Given the description of an element on the screen output the (x, y) to click on. 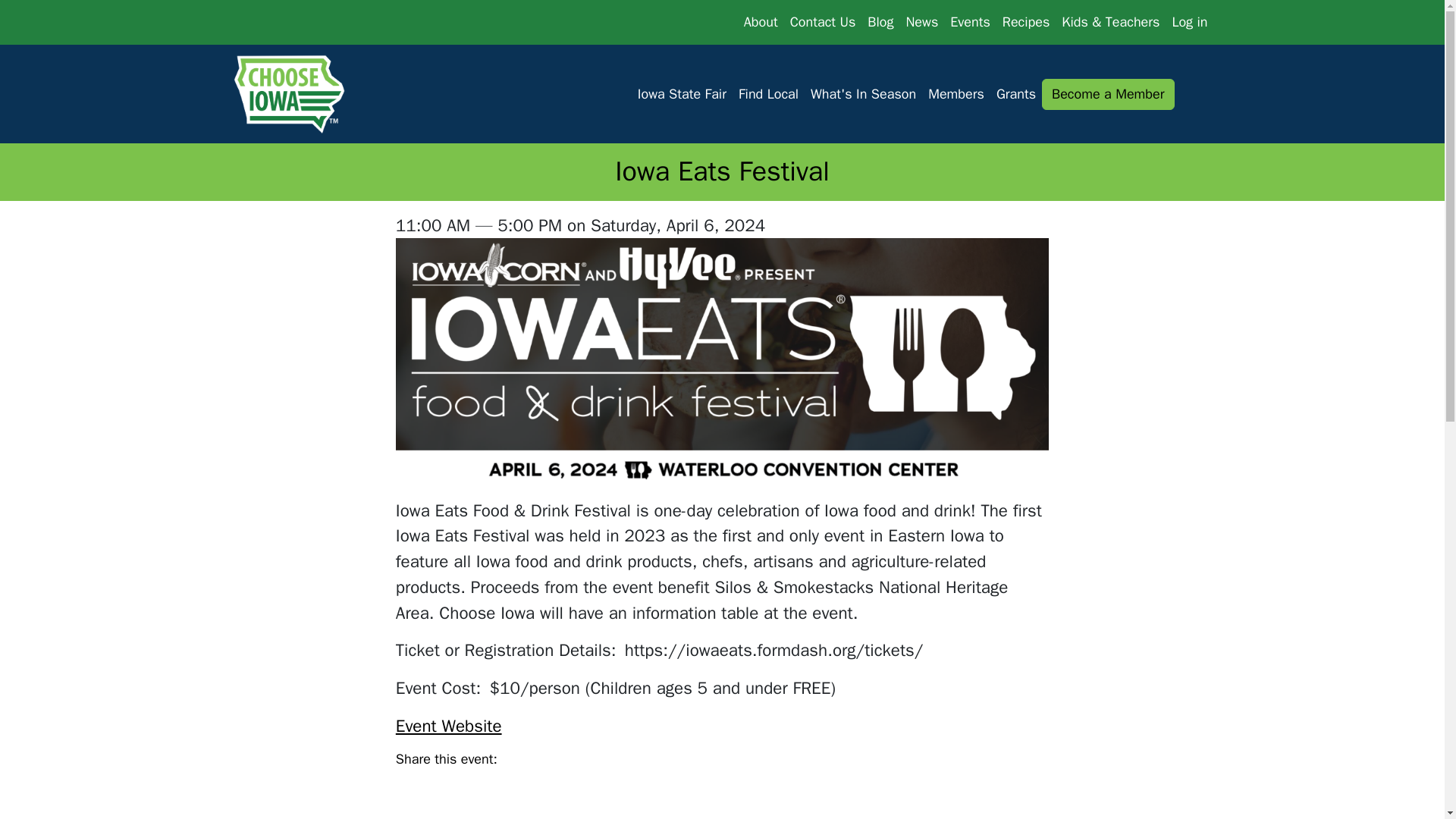
Search (1192, 93)
Search link for main menu. (1192, 93)
About (761, 21)
What's In Season (863, 93)
Contact Us (822, 21)
Skip to main content (67, 11)
News (921, 21)
Become a Member (1107, 93)
Share to Email (579, 764)
Home (293, 94)
